Given the description of an element on the screen output the (x, y) to click on. 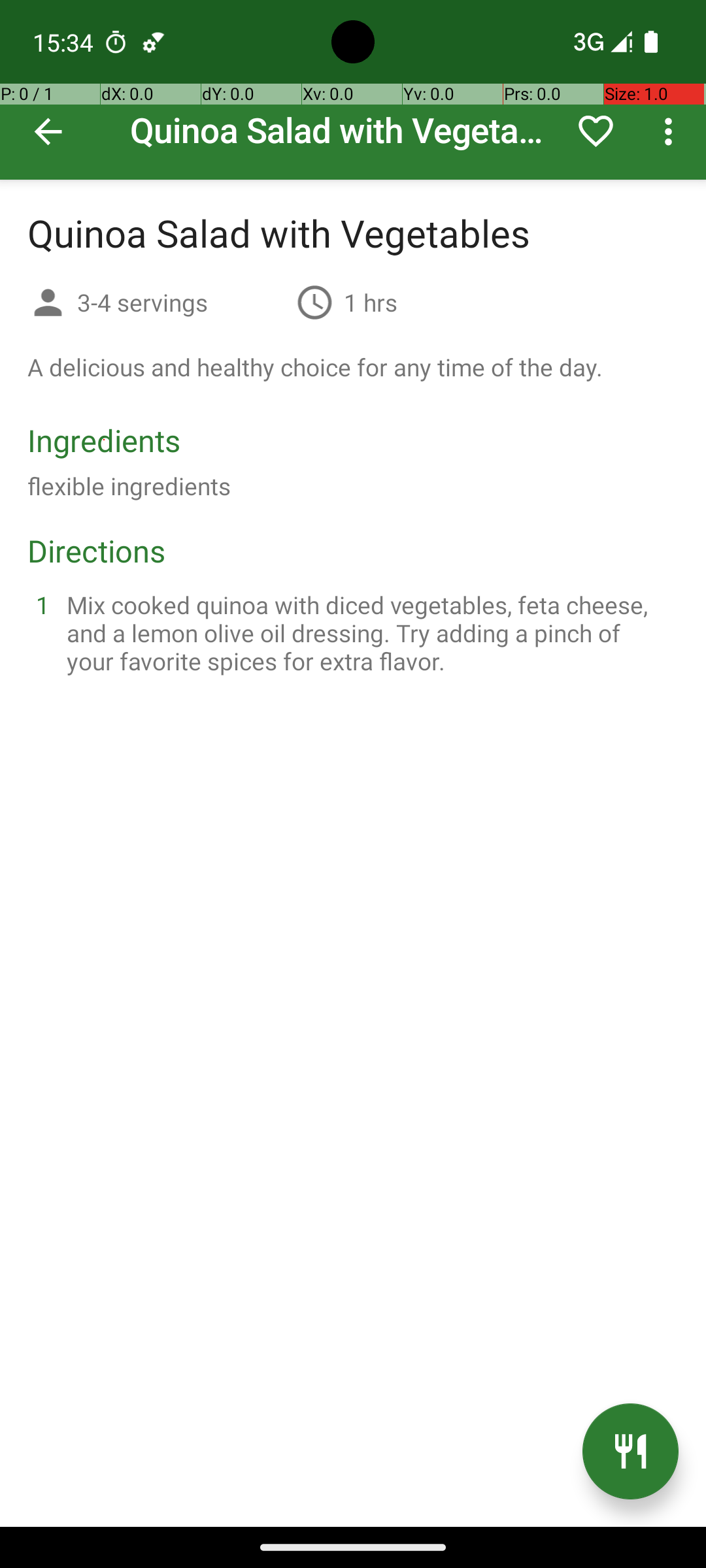
Mix cooked quinoa with diced vegetables, feta cheese, and a lemon olive oil dressing. Try adding a pinch of your favorite spices for extra flavor. Element type: android.widget.TextView (368, 632)
